Given the description of an element on the screen output the (x, y) to click on. 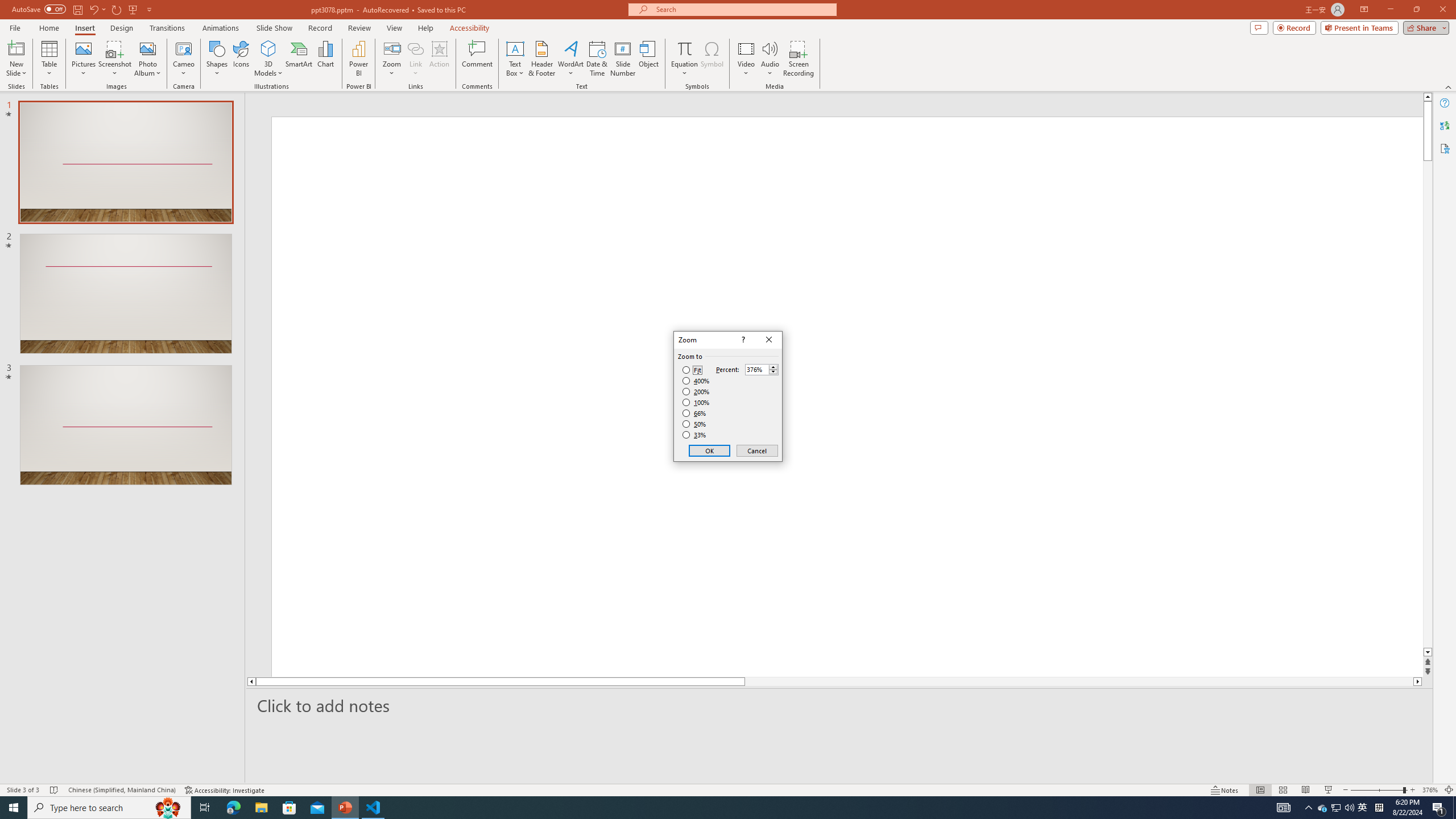
3D Models (268, 48)
Context help (742, 339)
33% (694, 434)
Slide Number (622, 58)
50% (694, 424)
400% (696, 380)
